Given the description of an element on the screen output the (x, y) to click on. 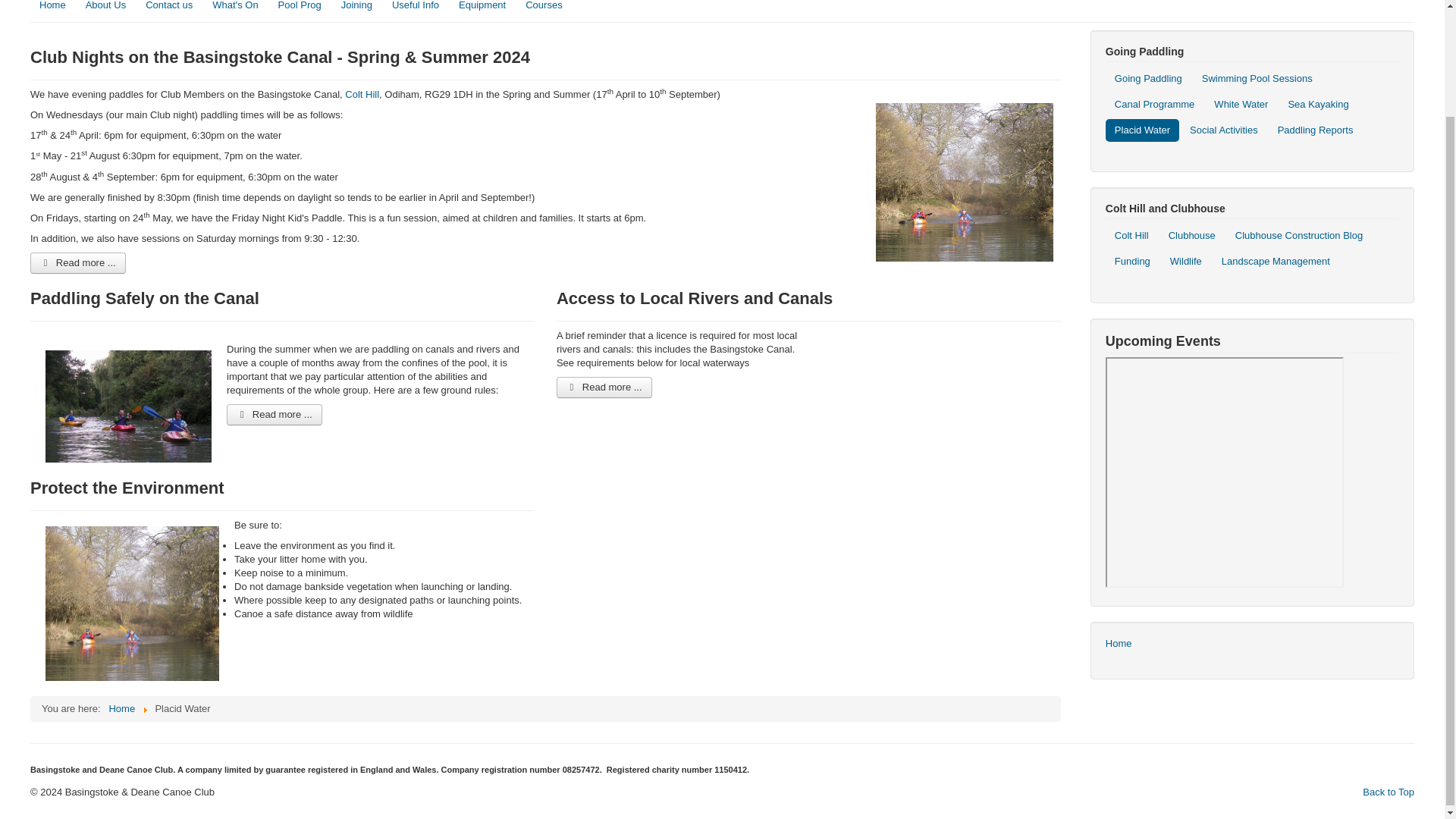
Home (52, 8)
Courses (543, 8)
Pool Prog (299, 8)
Colt Hill (361, 93)
Read more ... (77, 262)
About Us (106, 8)
Joining (356, 8)
Colt Hill (361, 93)
Equipment (482, 8)
What's On (234, 8)
